Given the description of an element on the screen output the (x, y) to click on. 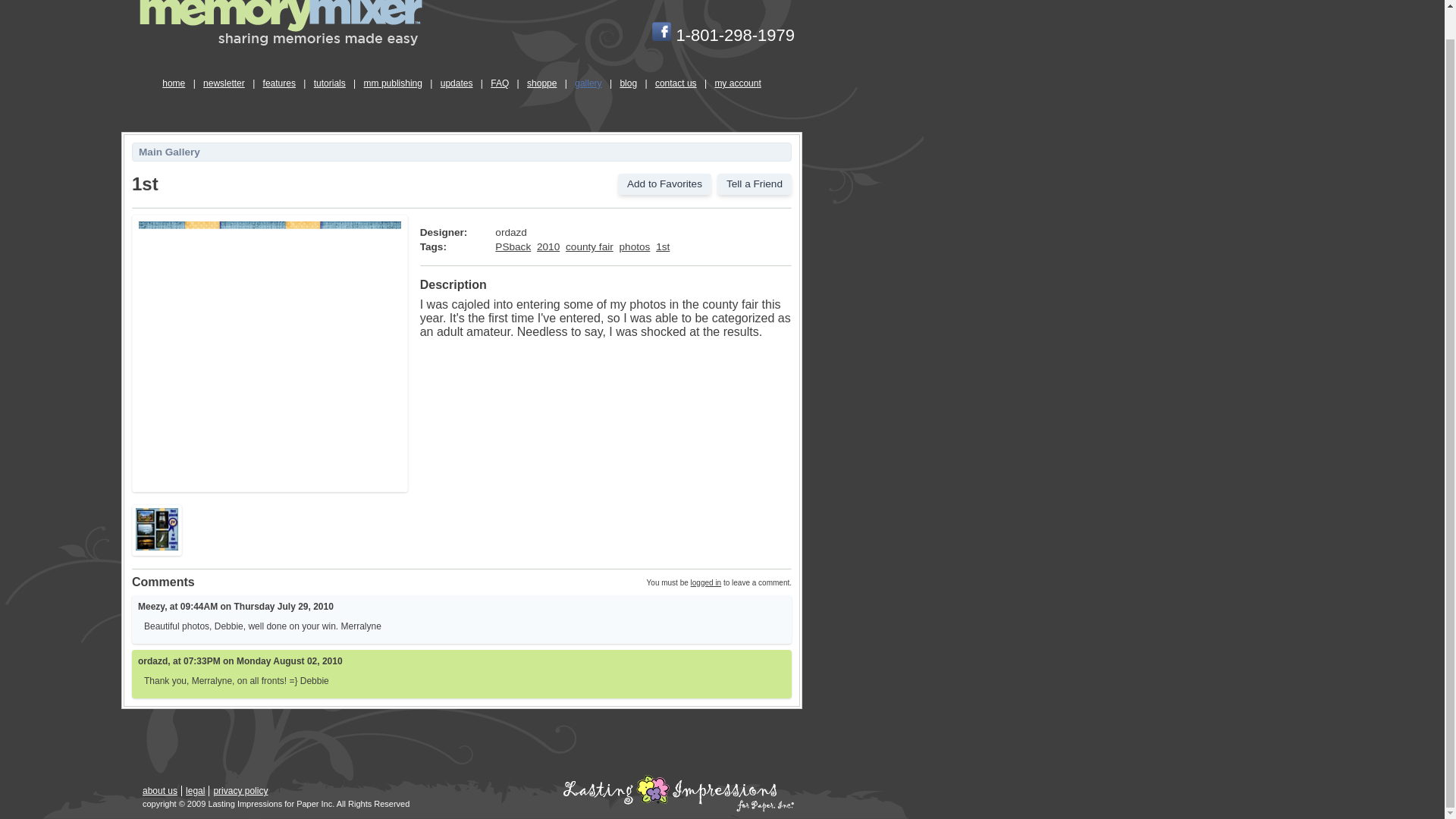
Add to Favorites (664, 183)
tutorials (329, 82)
features (279, 82)
about us (159, 790)
mm publishing (393, 82)
county fair (589, 246)
Main Gallery (169, 152)
my account (737, 82)
PSback (513, 246)
blog (628, 82)
contact us (675, 82)
legal (195, 790)
1st (662, 246)
updates (457, 82)
FAQ (498, 82)
